Given the description of an element on the screen output the (x, y) to click on. 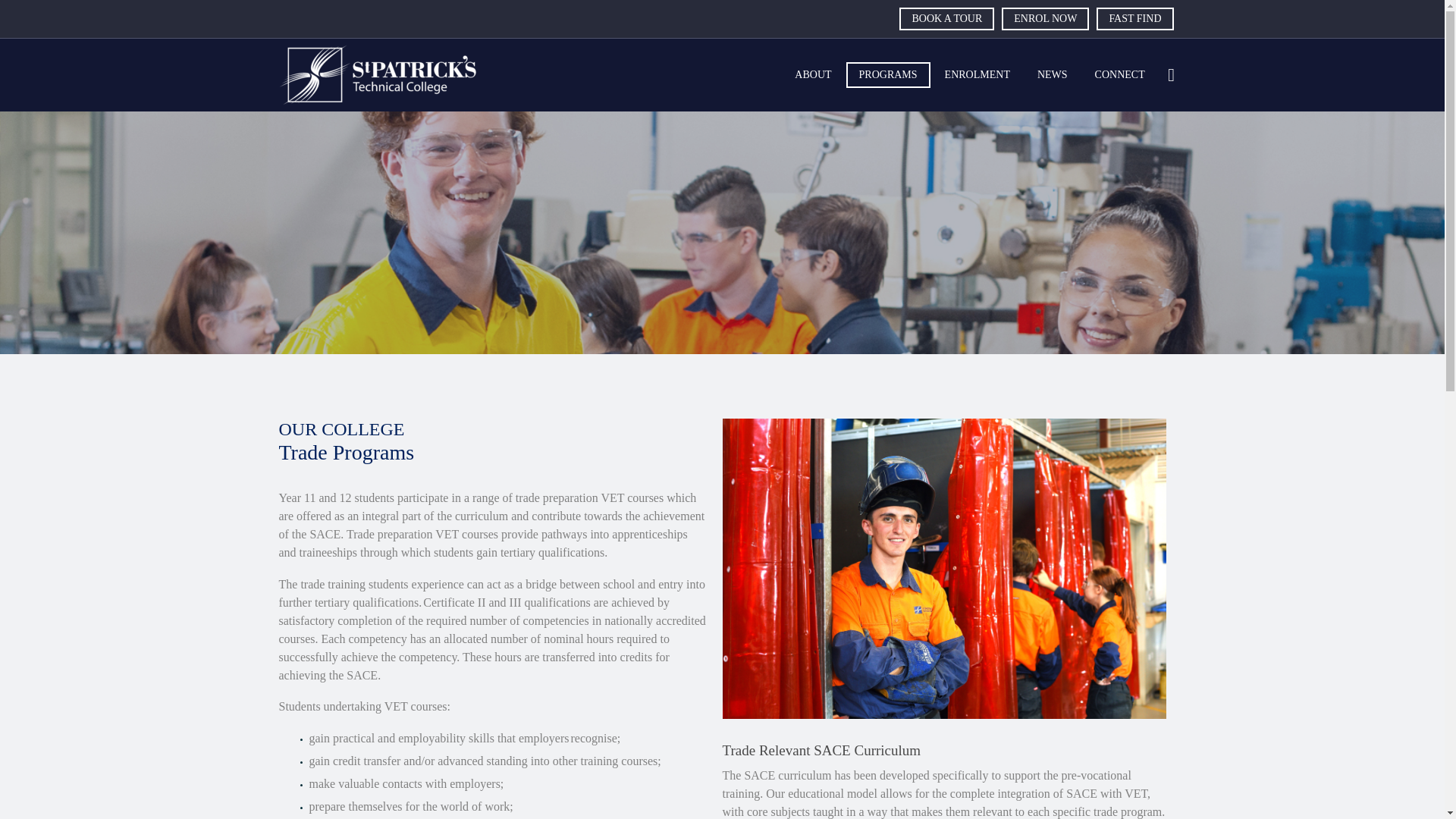
PROGRAMS (887, 74)
ABOUT (813, 74)
ENROLMENT (977, 74)
NEWS (1052, 74)
BOOK A TOUR (946, 18)
FAST FIND (1134, 18)
ENROL NOW (1045, 18)
